Given the description of an element on the screen output the (x, y) to click on. 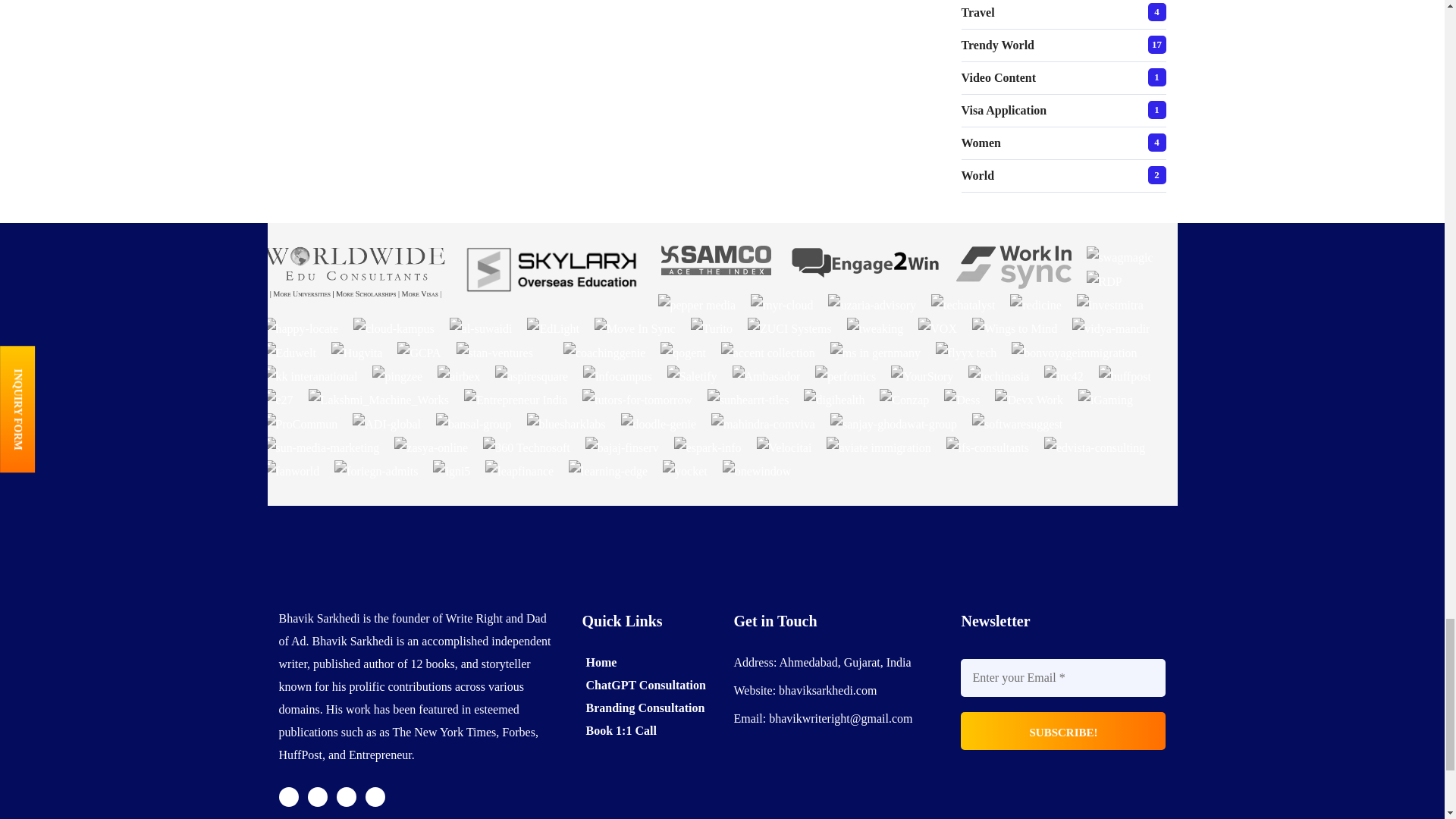
Twitter (288, 796)
Linkedin (375, 796)
Subscribe! (1063, 730)
Instagram (346, 796)
Enter your Email (1063, 677)
Facebook (317, 796)
